Given the description of an element on the screen output the (x, y) to click on. 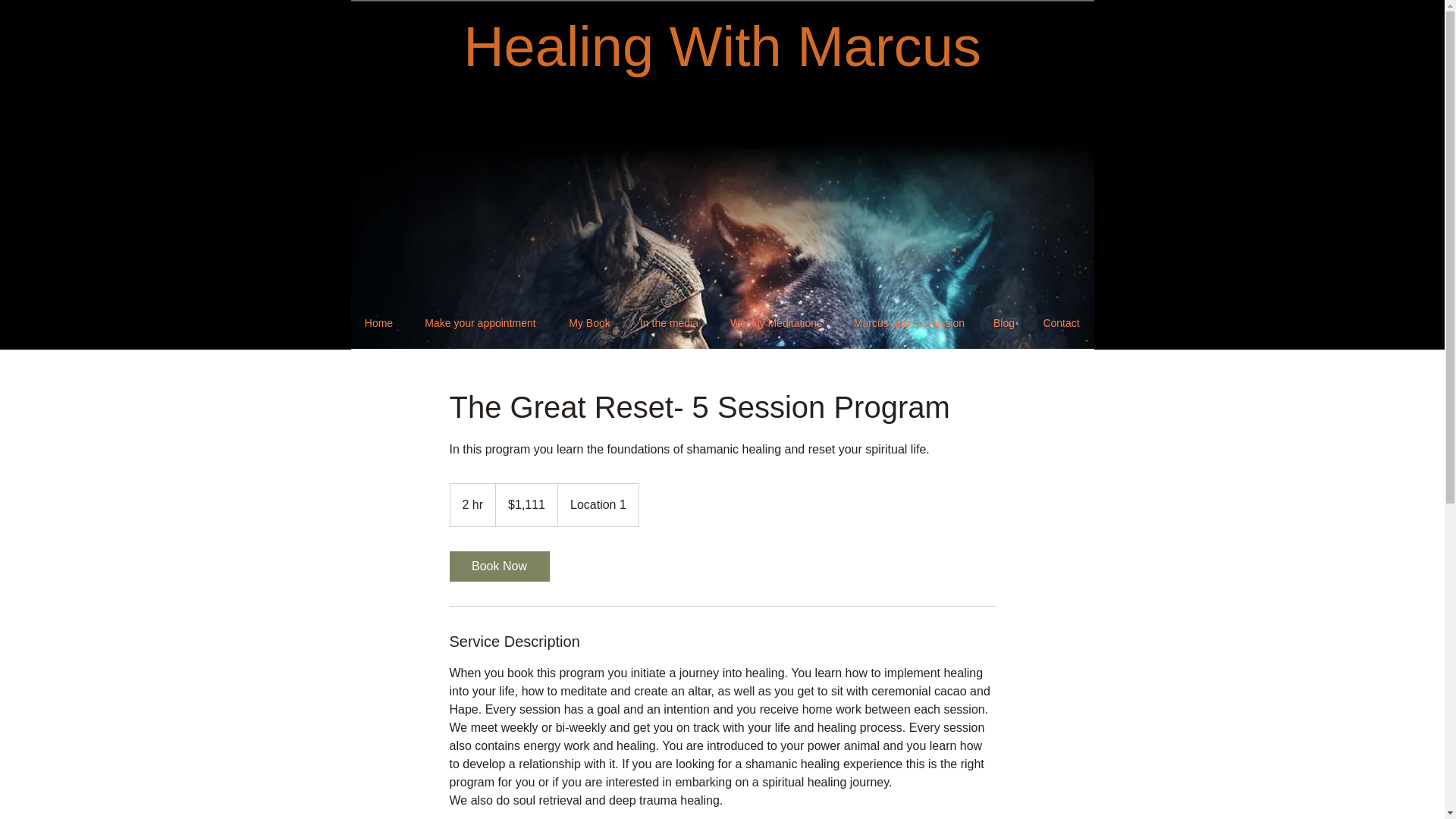
Contact (1060, 322)
My Book (588, 322)
Make your appointment (479, 322)
Blog (1004, 322)
Weekly Meditations (775, 322)
Home (378, 322)
Marcus and his mission (908, 322)
Book Now (498, 566)
In the media (668, 322)
